Given the description of an element on the screen output the (x, y) to click on. 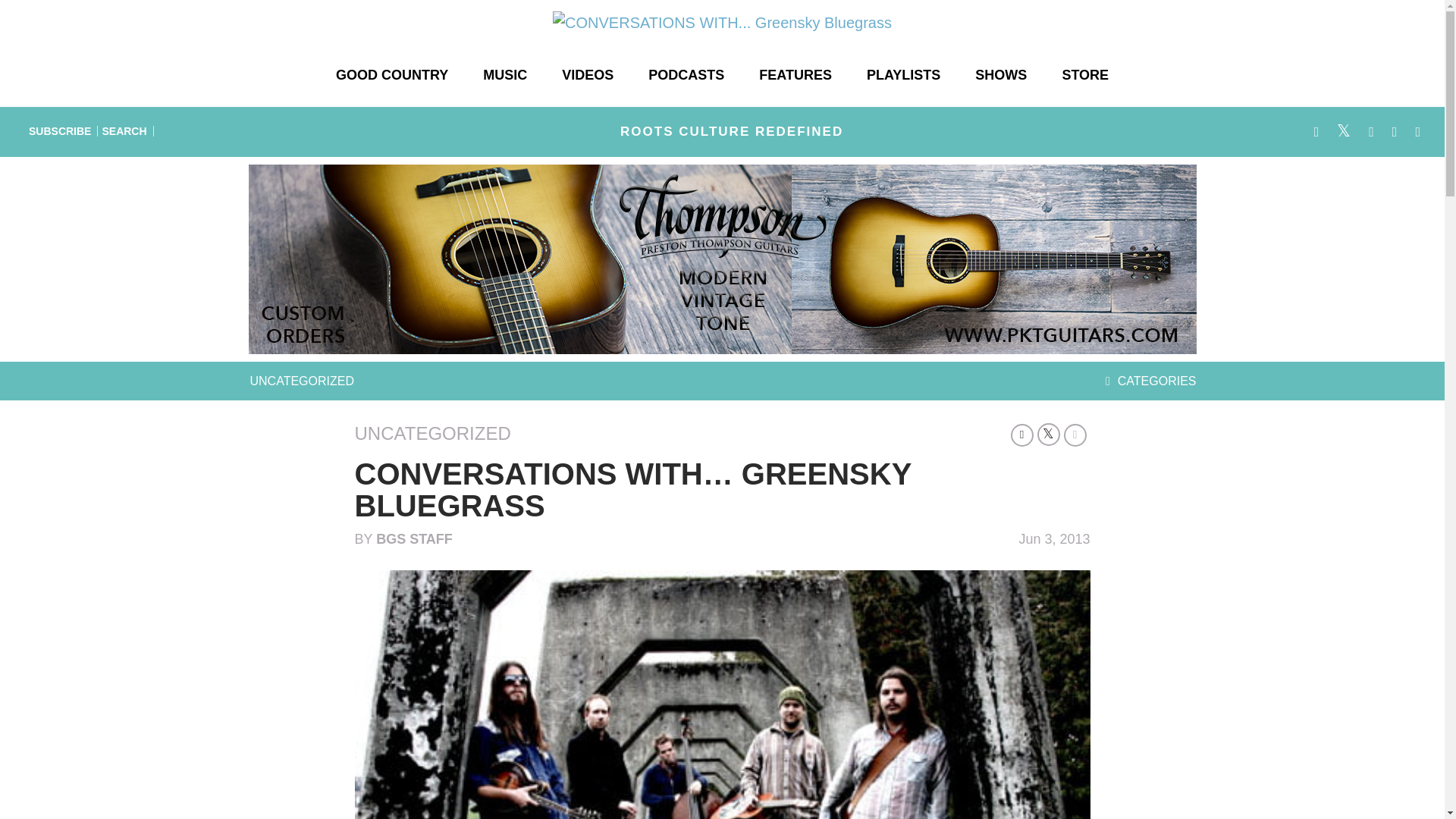
PODCASTS (686, 74)
FEATURES (795, 74)
VIDEOS (588, 74)
SEARCH (124, 131)
UNCATEGORIZED (301, 380)
GOOD COUNTRY (391, 74)
SUBSCRIBE (60, 131)
MUSIC (504, 74)
STORE (1085, 74)
SHOWS (1000, 74)
PLAYLISTS (903, 74)
